Given the description of an element on the screen output the (x, y) to click on. 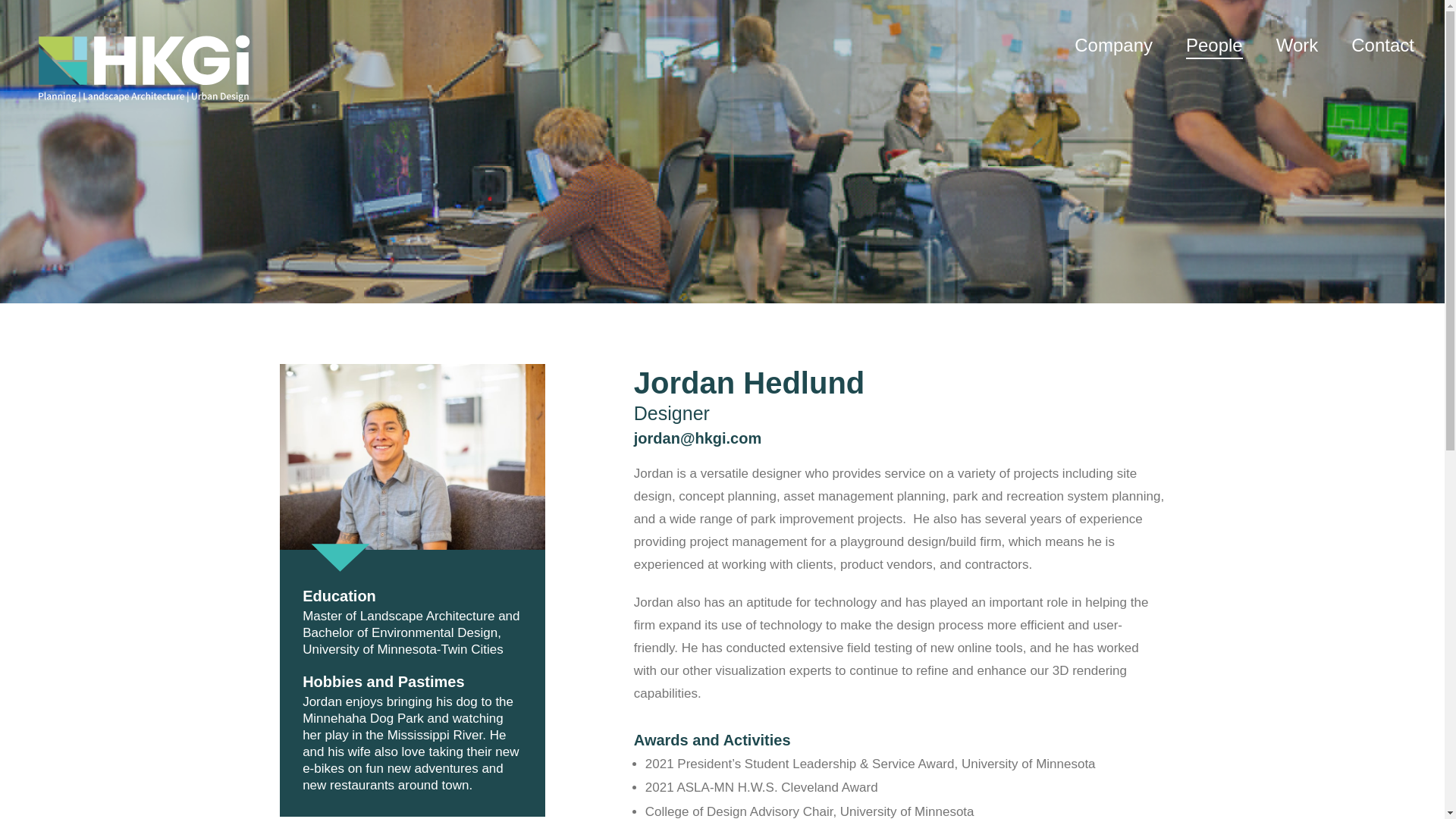
People (1214, 45)
Work (1297, 45)
Contact (1382, 45)
Company (1113, 45)
